Given the description of an element on the screen output the (x, y) to click on. 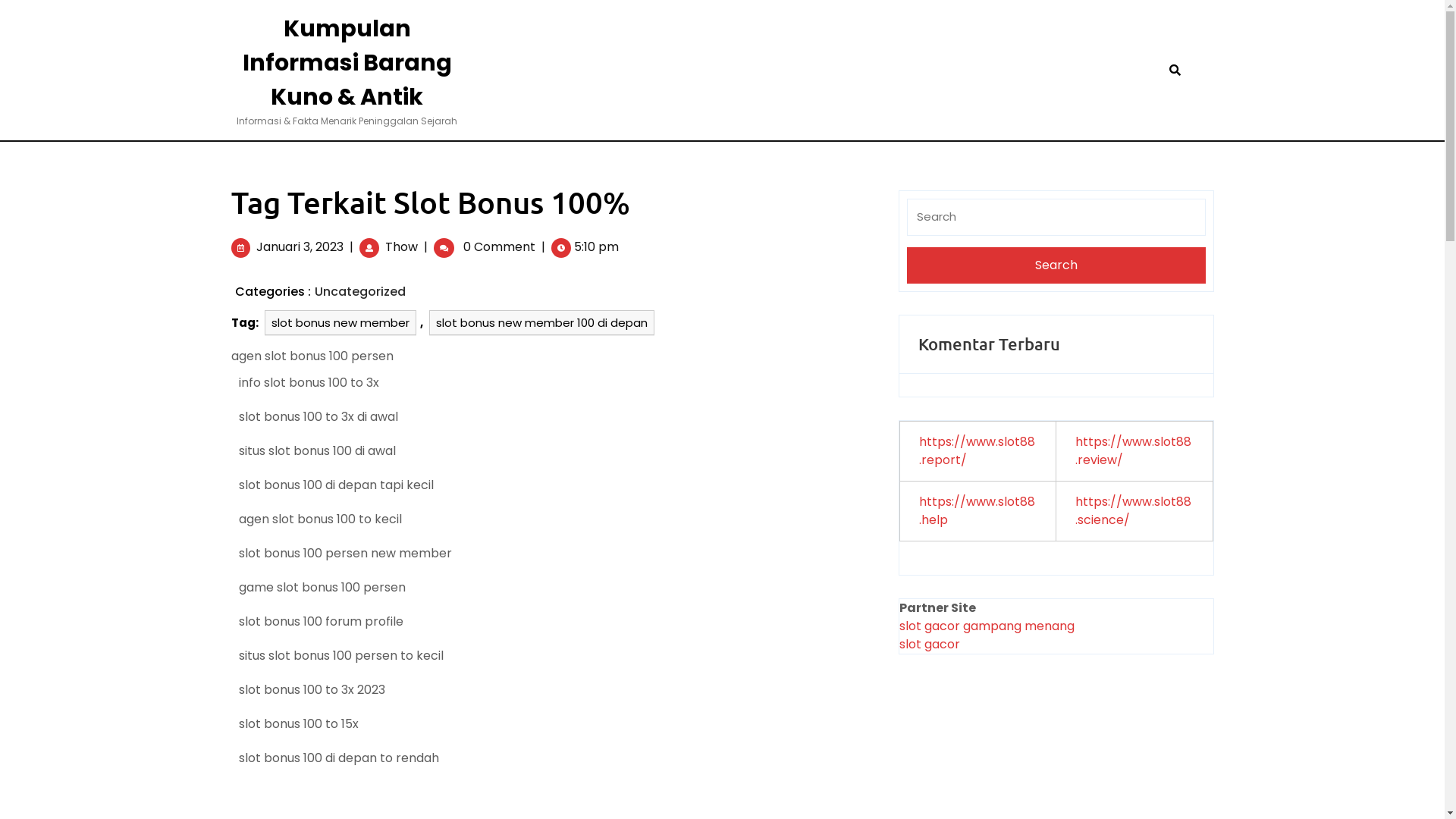
Thow Element type: text (401, 246)
slot gacor gampang menang Element type: text (986, 625)
https://www.slot88.help Element type: text (977, 510)
Uncategorized Element type: text (358, 291)
Search Element type: text (1055, 265)
Kumpulan Informasi Barang Kuno & Antik Element type: text (346, 62)
slot gacor Element type: text (929, 643)
slot bonus new member Element type: text (339, 322)
https://www.slot88.review/ Element type: text (1133, 450)
https://www.slot88.report/ Element type: text (977, 450)
Januari 3, 2023 Element type: text (299, 246)
slot bonus new member 100 di depan Element type: text (541, 322)
https://www.slot88.science/ Element type: text (1133, 510)
